Given the description of an element on the screen output the (x, y) to click on. 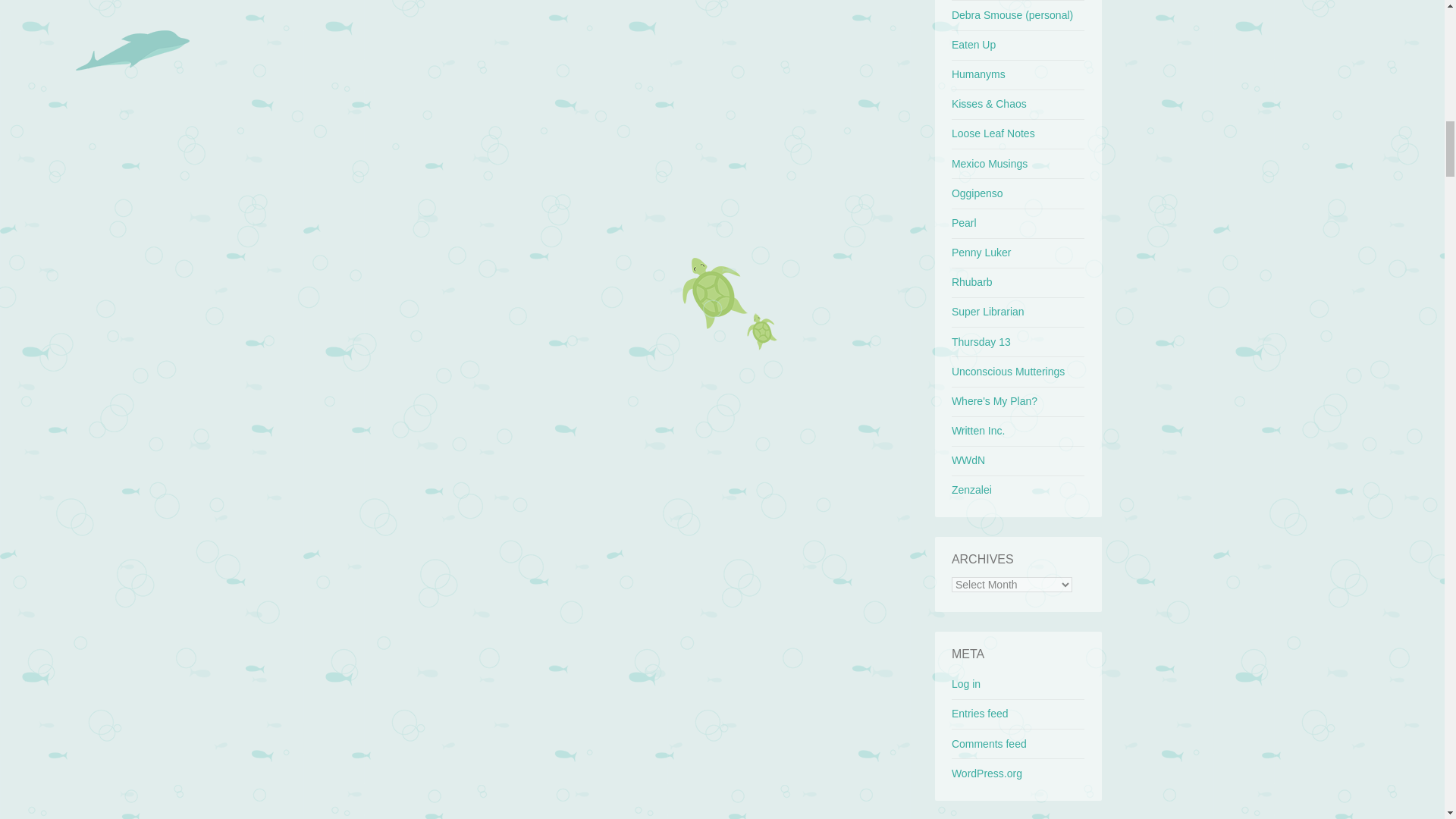
Humanyms (979, 73)
Eaten Up (973, 44)
